Given the description of an element on the screen output the (x, y) to click on. 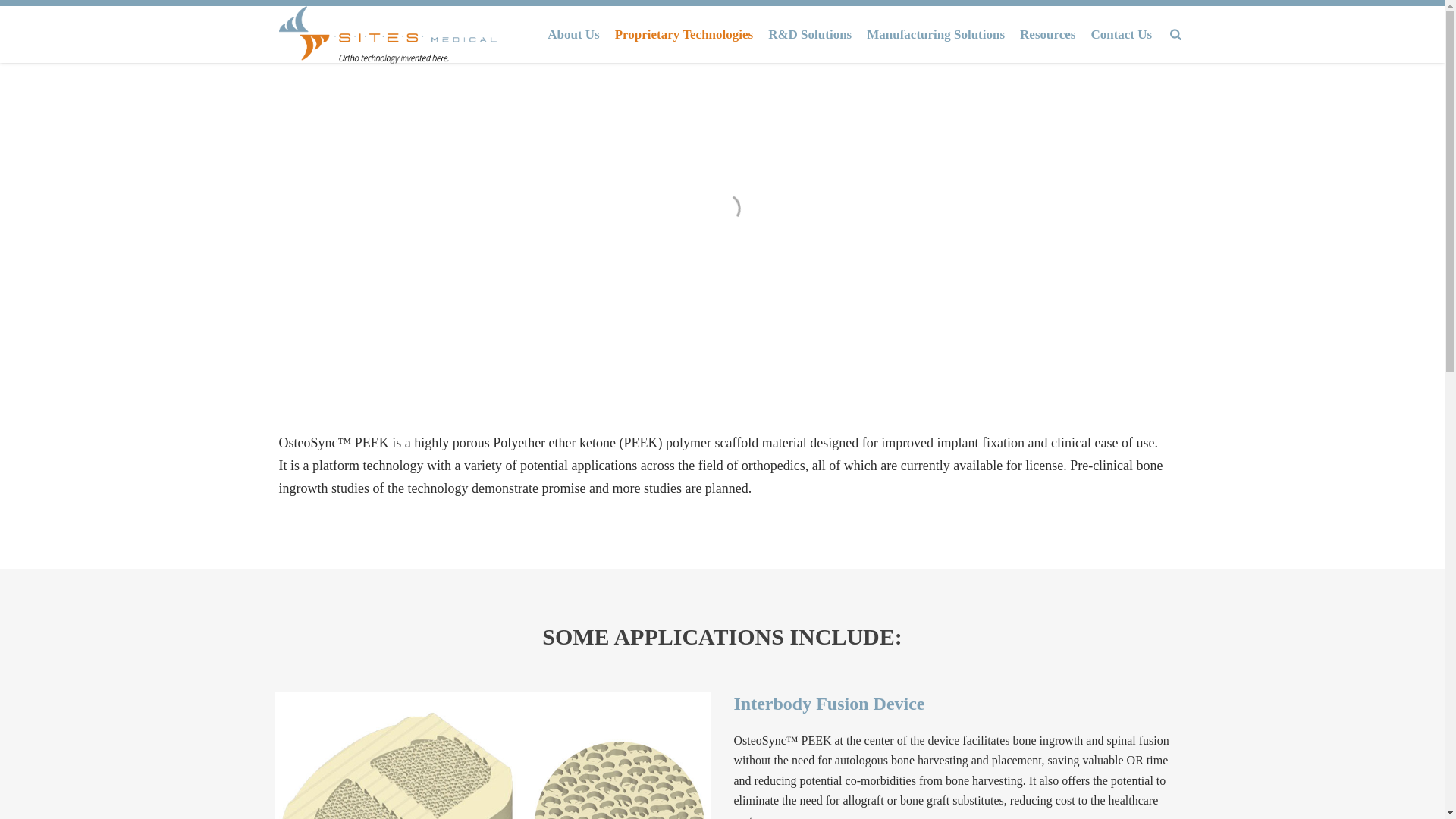
Contact Us (1120, 34)
Manufacturing Solutions (935, 34)
Resources (1047, 34)
Proprietary Technologies (683, 34)
Contact Us (1120, 34)
About Us (573, 34)
Resources (1047, 34)
About Us (573, 34)
Proprietary Technologies (683, 34)
Manufacturing Solutions (935, 34)
